Given the description of an element on the screen output the (x, y) to click on. 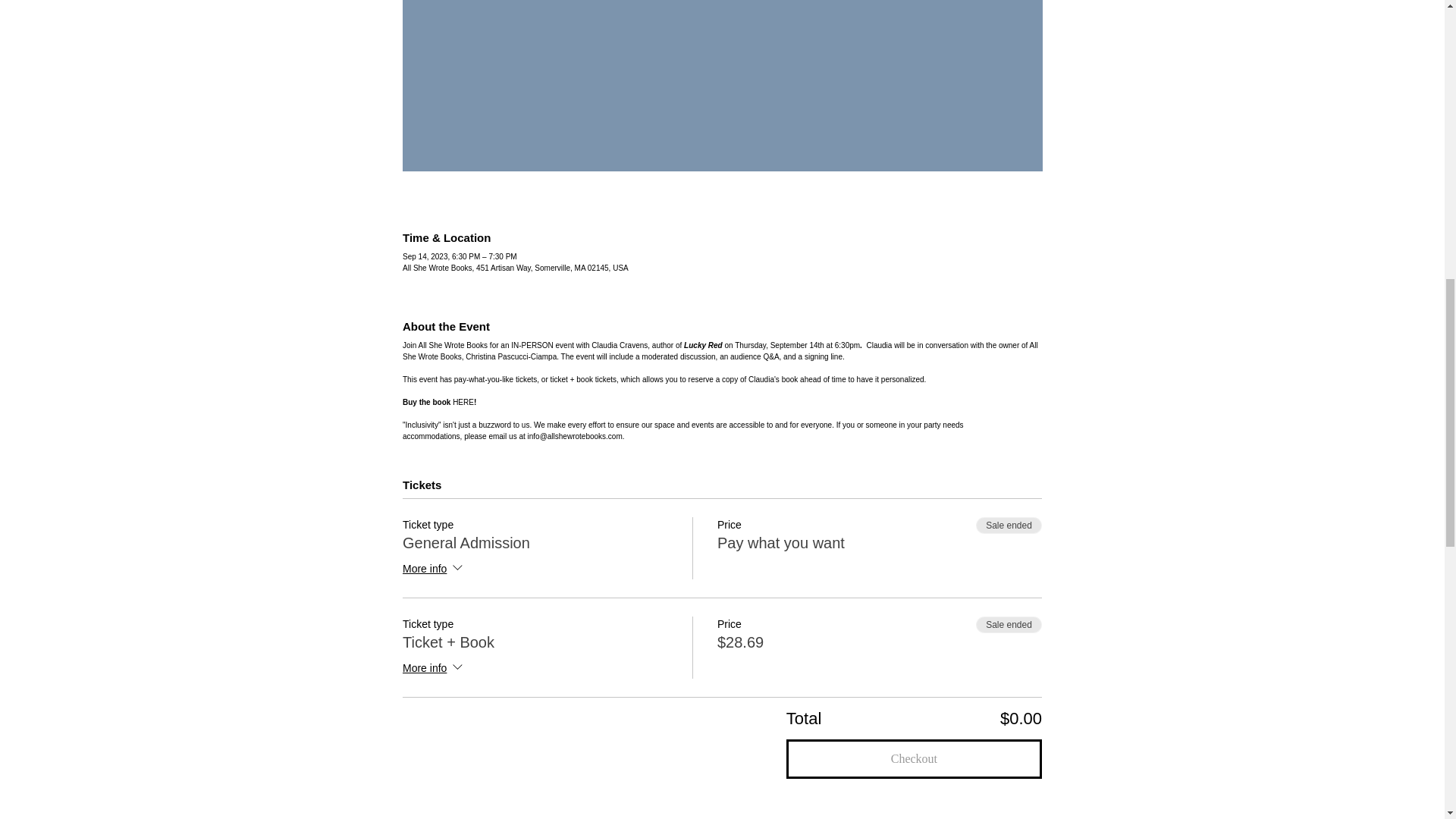
HERE (463, 402)
More info (434, 569)
Checkout (914, 758)
More info (434, 668)
